Given the description of an element on the screen output the (x, y) to click on. 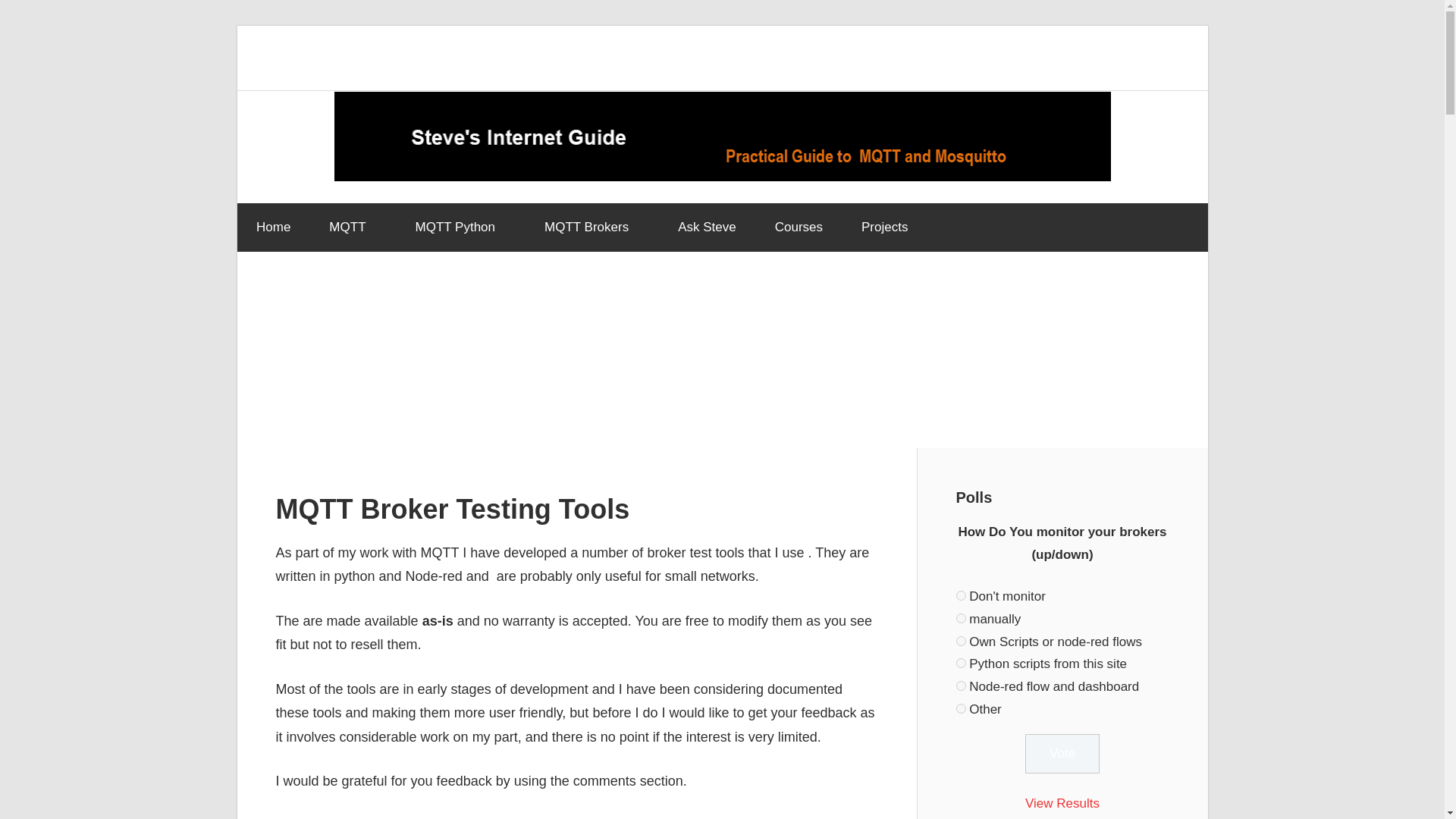
Ask Steve (707, 227)
185 (960, 640)
186 (960, 663)
Courses (798, 227)
187 (960, 685)
 MQTT Overview and Tutorials (353, 227)
   Vote    (1062, 753)
184 (960, 618)
Home (271, 227)
MQTT Python (460, 227)
